Given the description of an element on the screen output the (x, y) to click on. 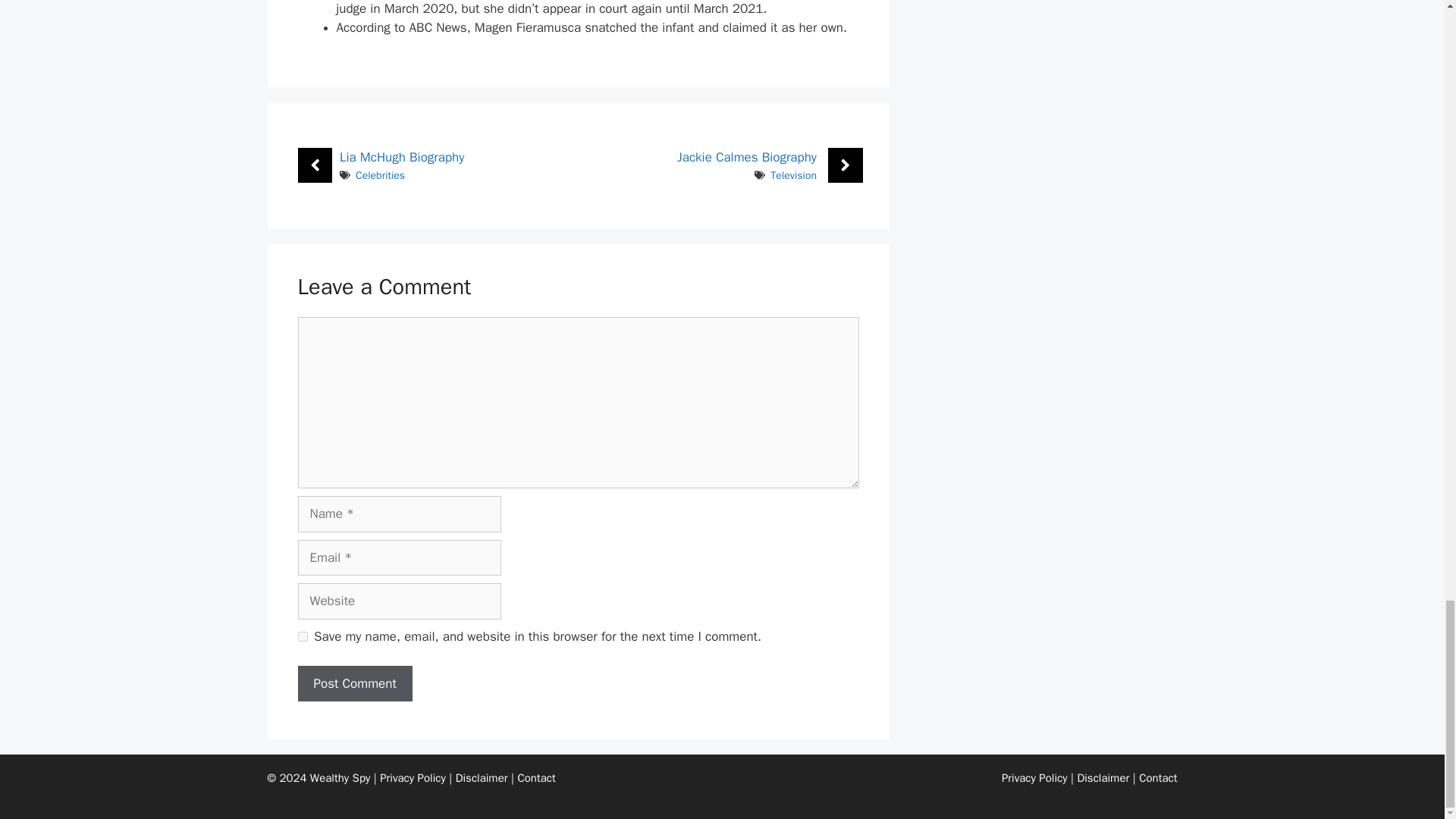
Post Comment (354, 683)
Celebrities (379, 174)
Post Comment (354, 683)
Television (793, 174)
Jackie Calmes Biography (746, 157)
Lia McHugh Biography (401, 157)
yes (302, 636)
